Given the description of an element on the screen output the (x, y) to click on. 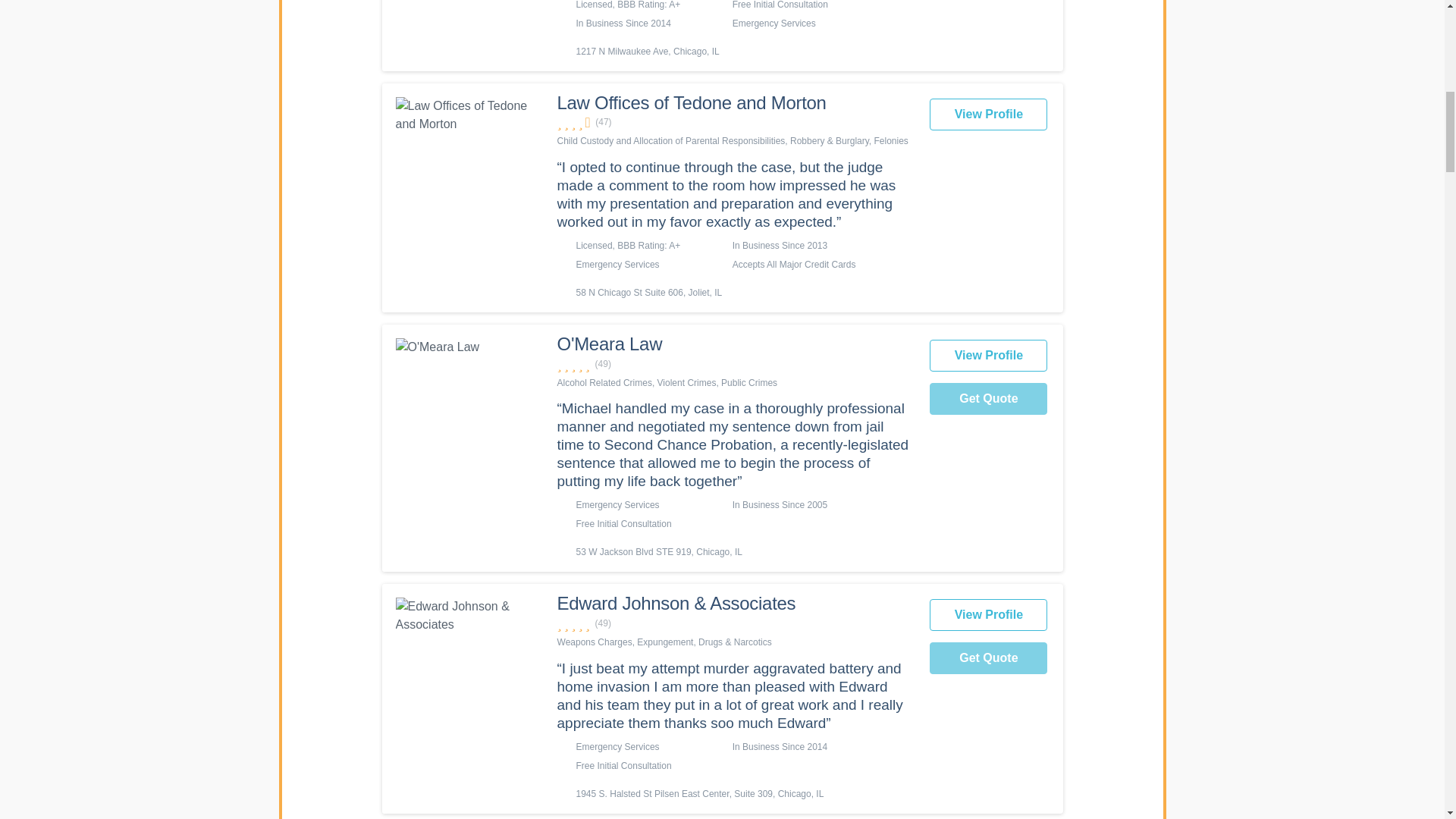
4.6 (736, 122)
5.0 (736, 364)
Get Quote (988, 398)
4.9 (736, 623)
Get Quote (988, 658)
